Given the description of an element on the screen output the (x, y) to click on. 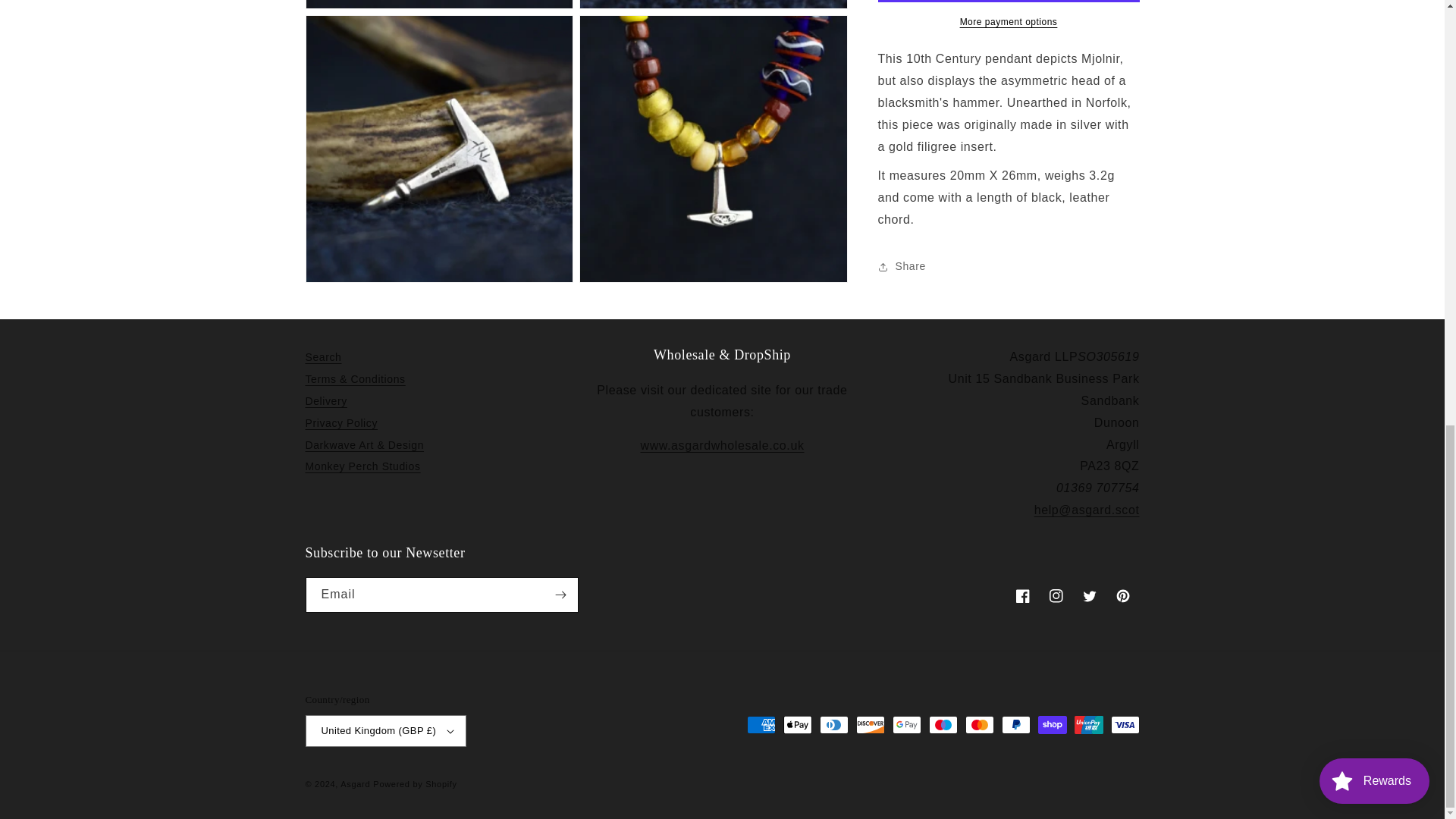
www.asgardwholesale.co.uk (721, 445)
